Given the description of an element on the screen output the (x, y) to click on. 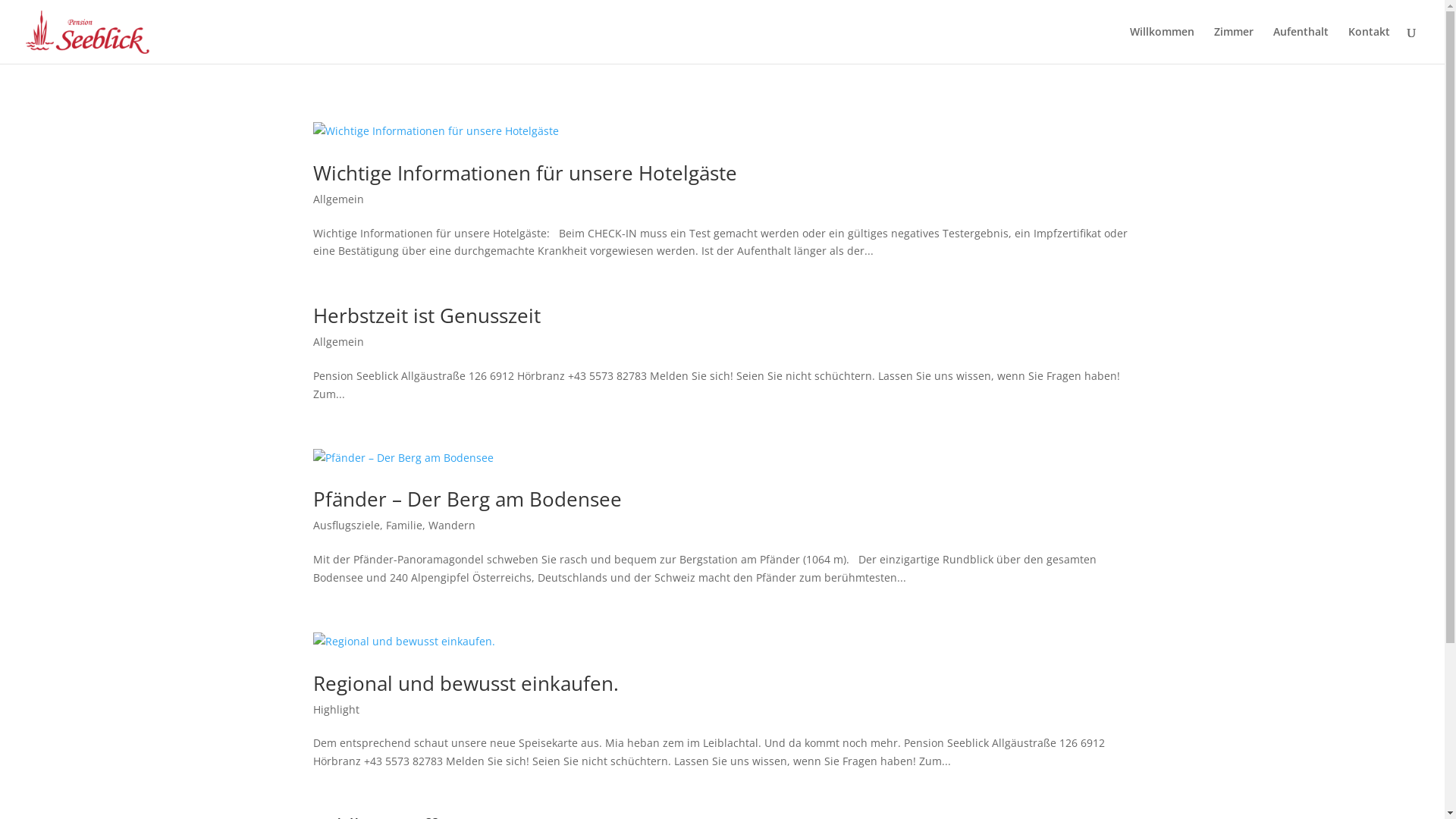
Aufenthalt Element type: text (1300, 44)
Willkommen Element type: text (1161, 44)
Allgemein Element type: text (337, 198)
Familie Element type: text (403, 524)
Zimmer Element type: text (1233, 44)
Ausflugsziele Element type: text (345, 524)
Highlight Element type: text (335, 709)
Kontakt Element type: text (1369, 44)
Allgemein Element type: text (337, 341)
Regional und bewusst einkaufen. Element type: text (465, 682)
Wandern Element type: text (450, 524)
Herbstzeit ist Genusszeit Element type: text (425, 315)
